Given the description of an element on the screen output the (x, y) to click on. 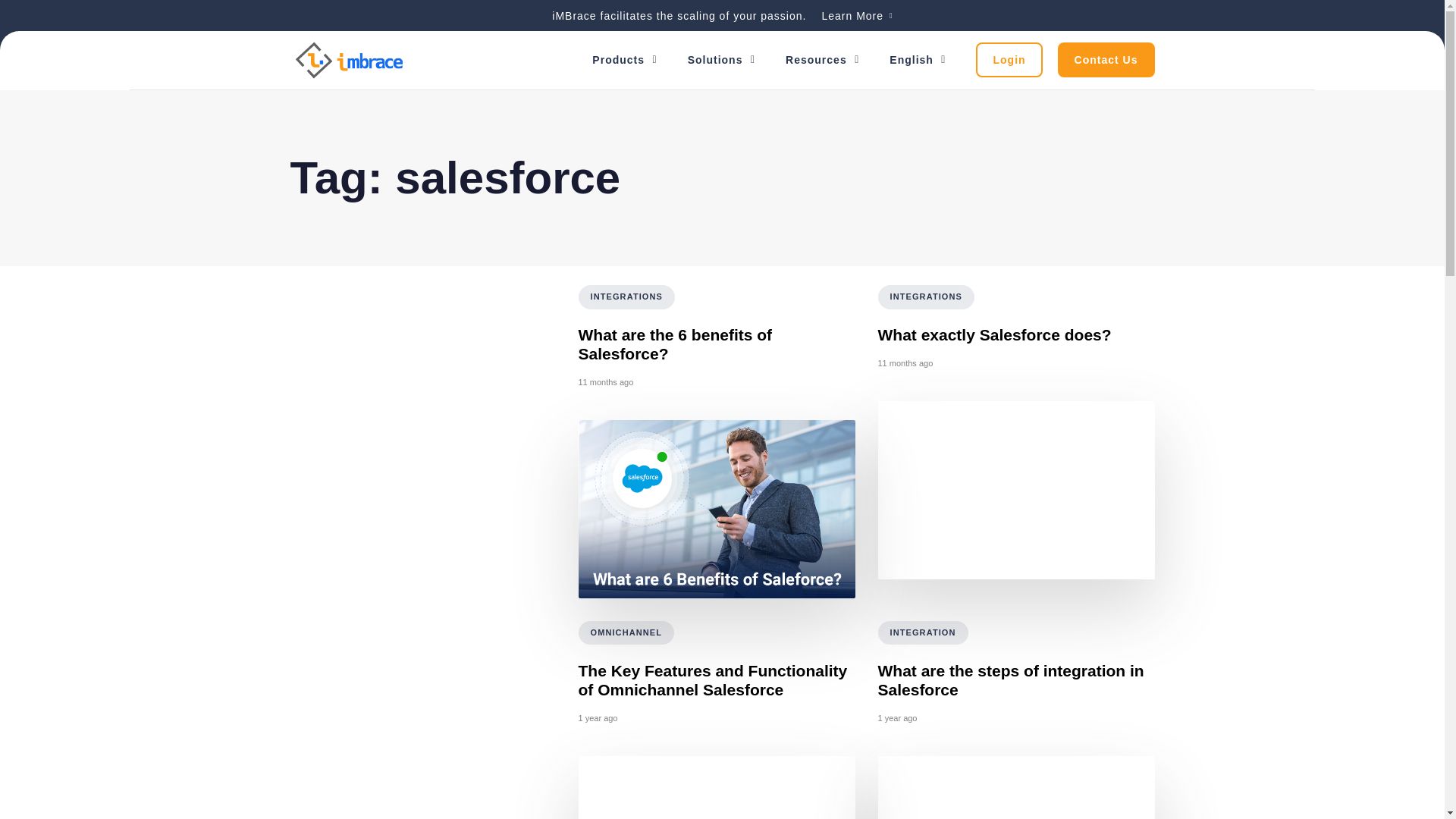
Learn More (856, 15)
